Given the description of an element on the screen output the (x, y) to click on. 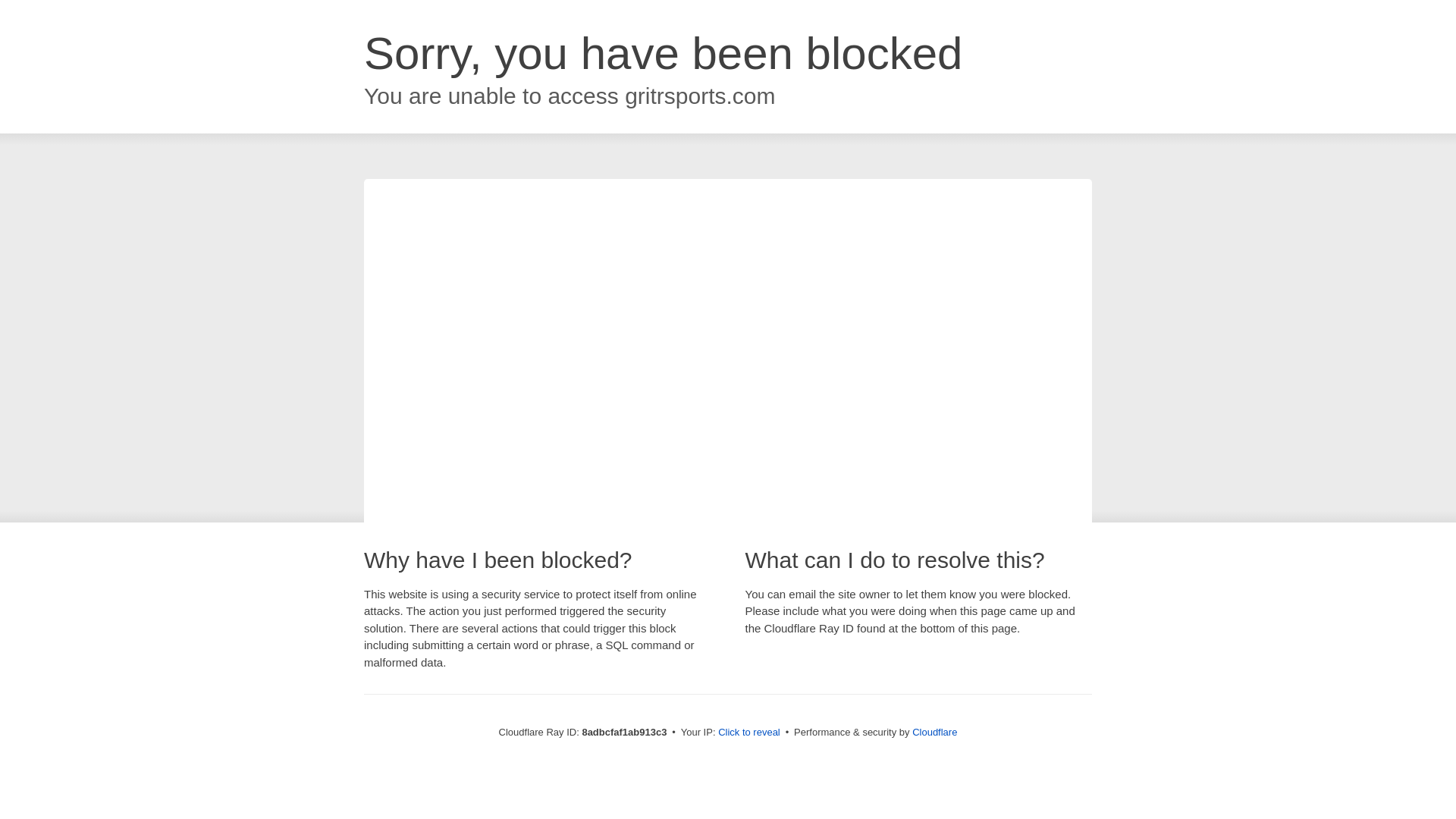
Cloudflare (934, 731)
Click to reveal (748, 732)
